Given the description of an element on the screen output the (x, y) to click on. 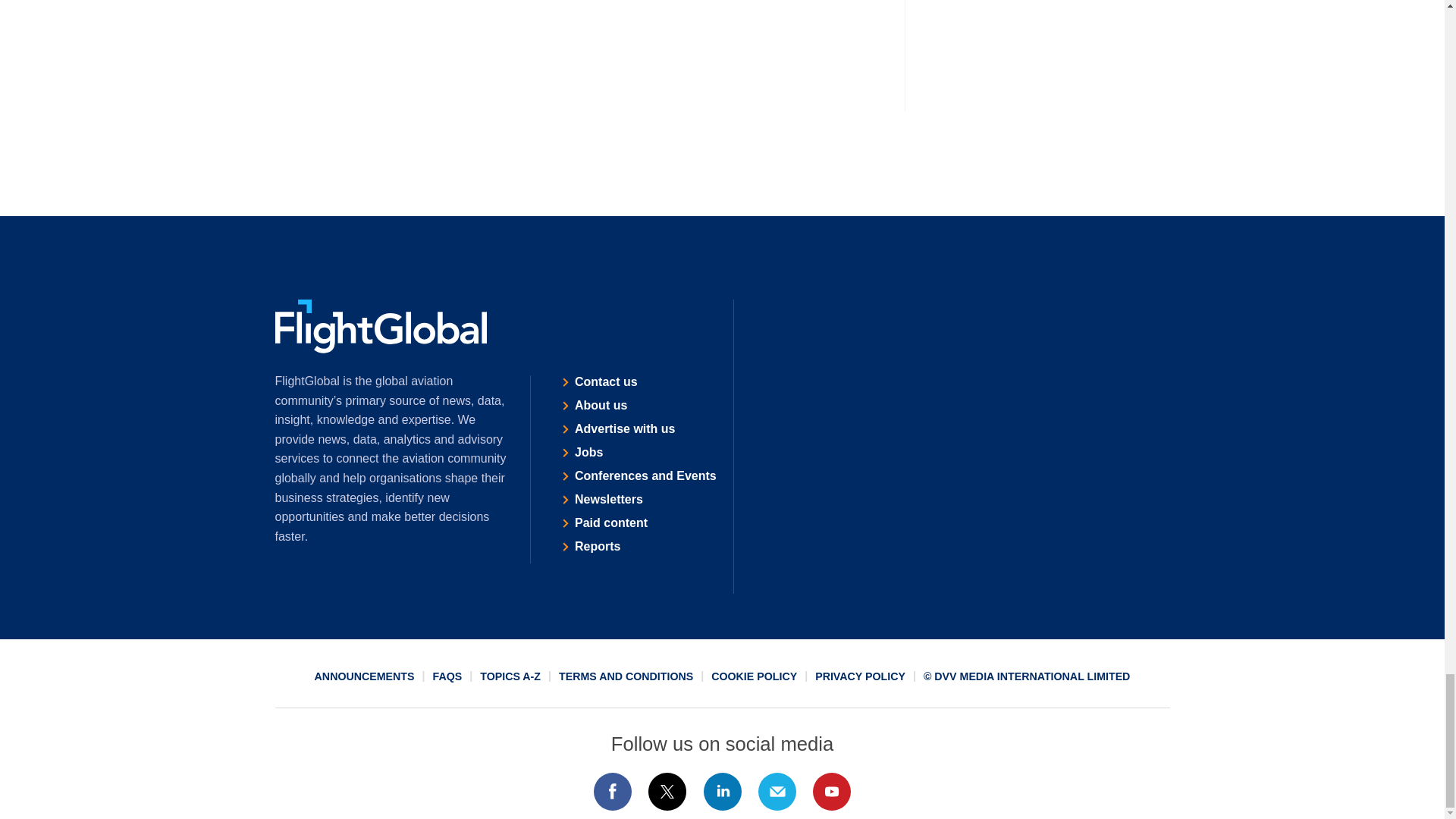
Email us (776, 791)
Connect with us on Twitter (667, 791)
Connect with us on Linked In (721, 791)
Connect with us on Facebook (611, 791)
Connect with us on Youtube (831, 791)
